Given the description of an element on the screen output the (x, y) to click on. 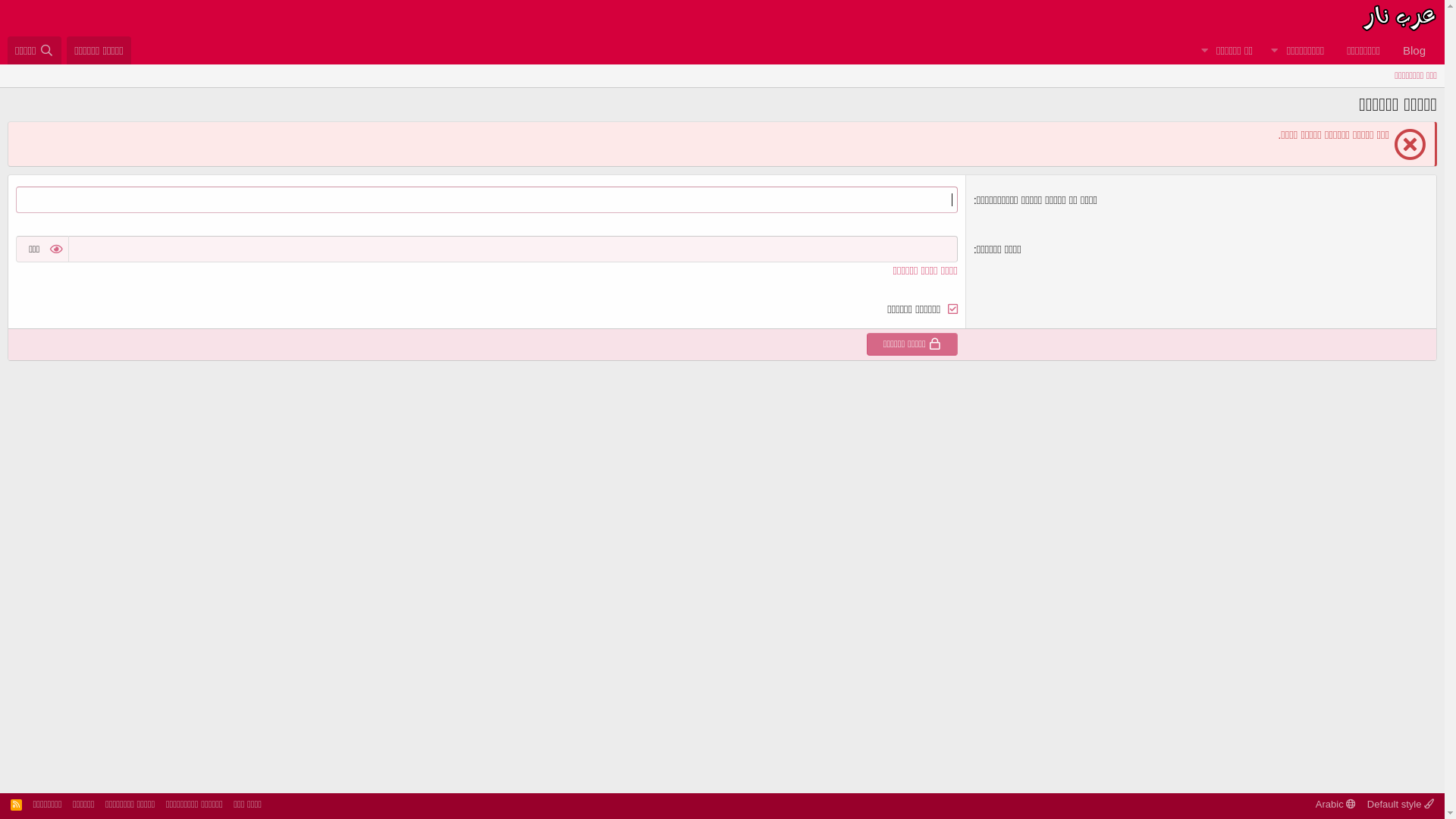
Default style Element type: text (1400, 804)
Blog Element type: text (1414, 50)
Arabic Element type: text (1335, 804)
RSS Element type: text (16, 804)
